Given the description of an element on the screen output the (x, y) to click on. 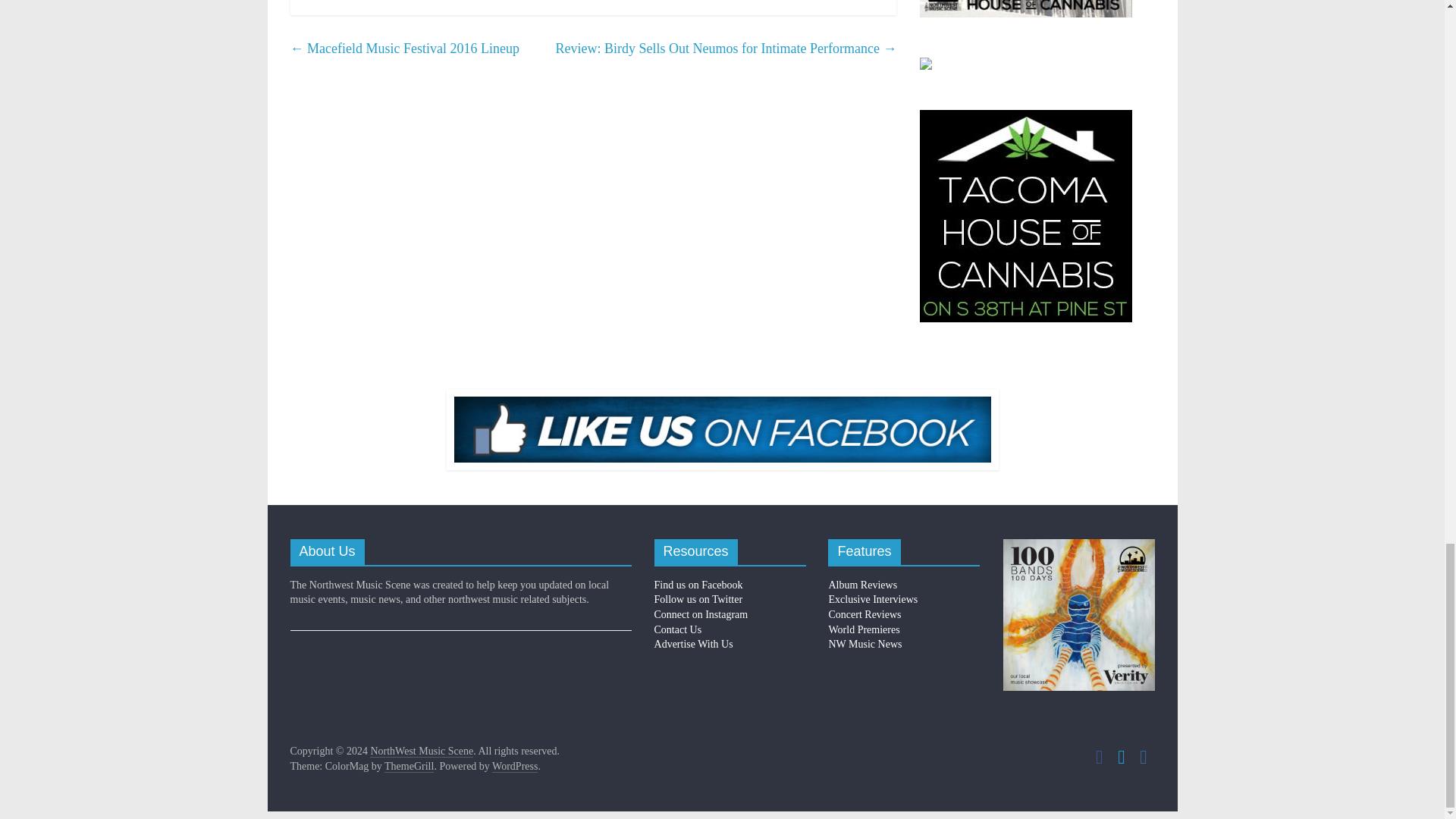
WordPress (514, 766)
NorthWest Music Scene (421, 751)
ThemeGrill (408, 766)
